Given the description of an element on the screen output the (x, y) to click on. 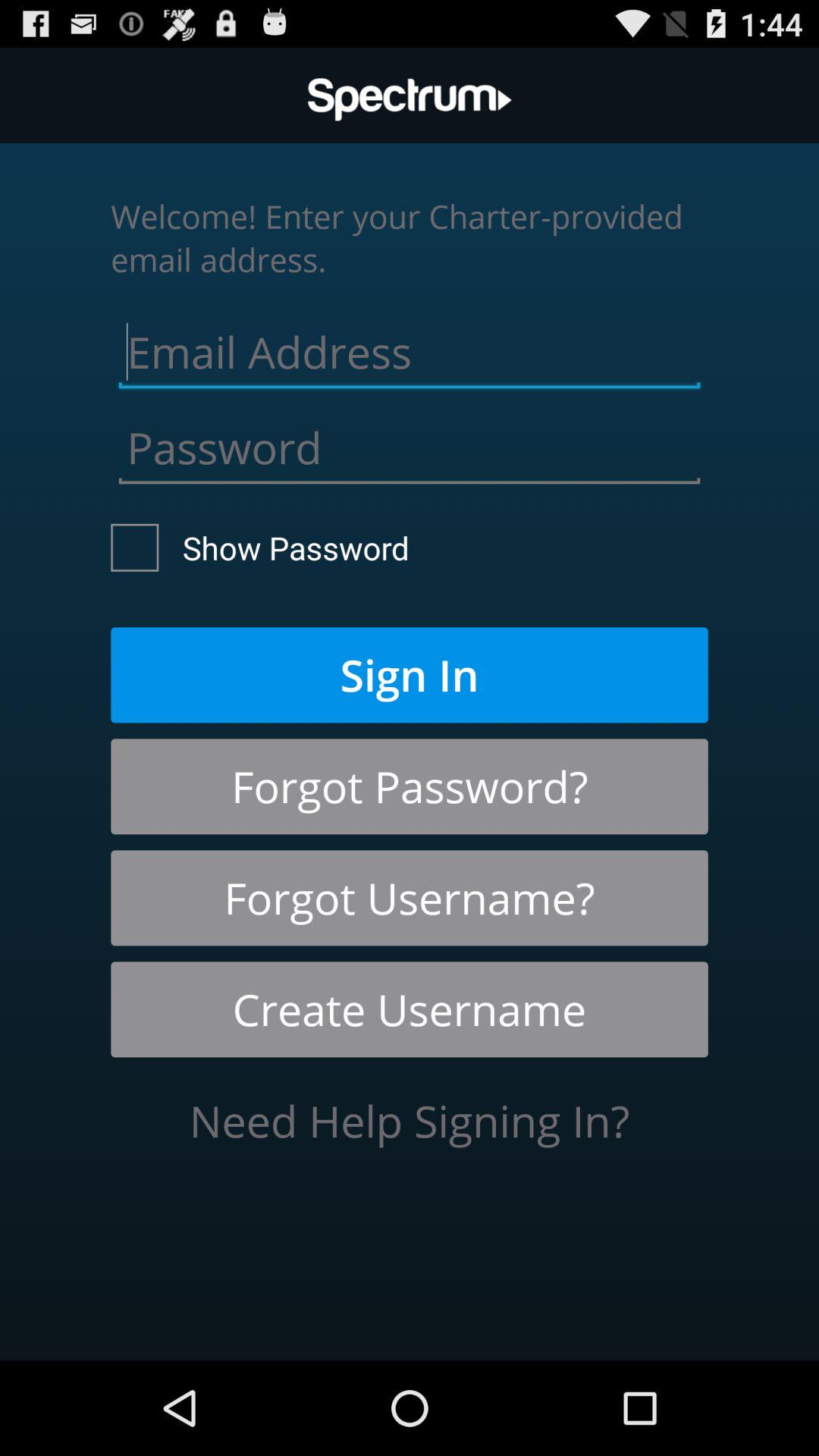
type email address (409, 348)
